Given the description of an element on the screen output the (x, y) to click on. 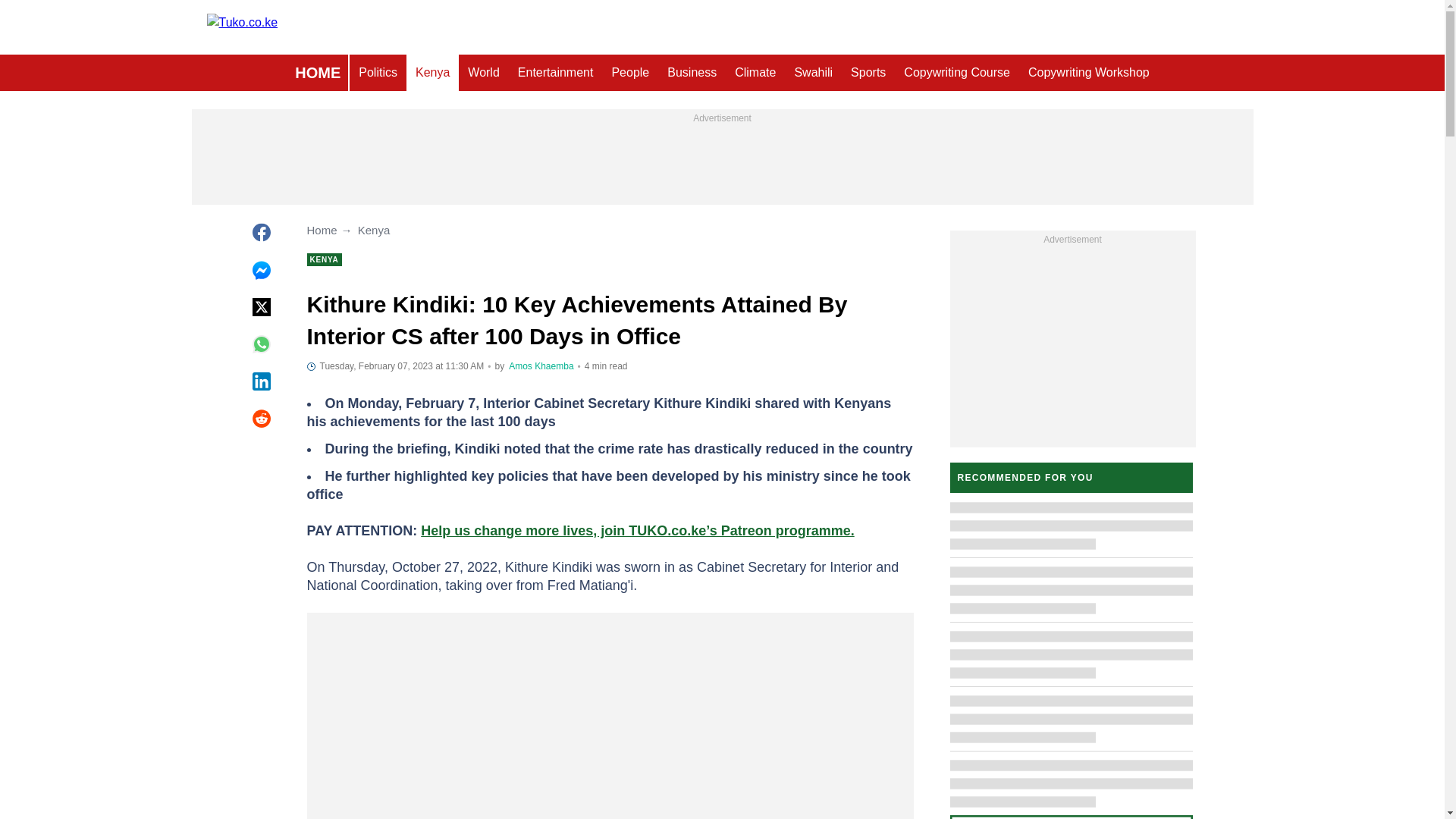
Business (691, 72)
HOME (317, 72)
People (630, 72)
Swahili (812, 72)
Climate (754, 72)
Sports (868, 72)
Kenya (432, 72)
Copywriting Course (957, 72)
Entertainment (555, 72)
Politics (377, 72)
